Given the description of an element on the screen output the (x, y) to click on. 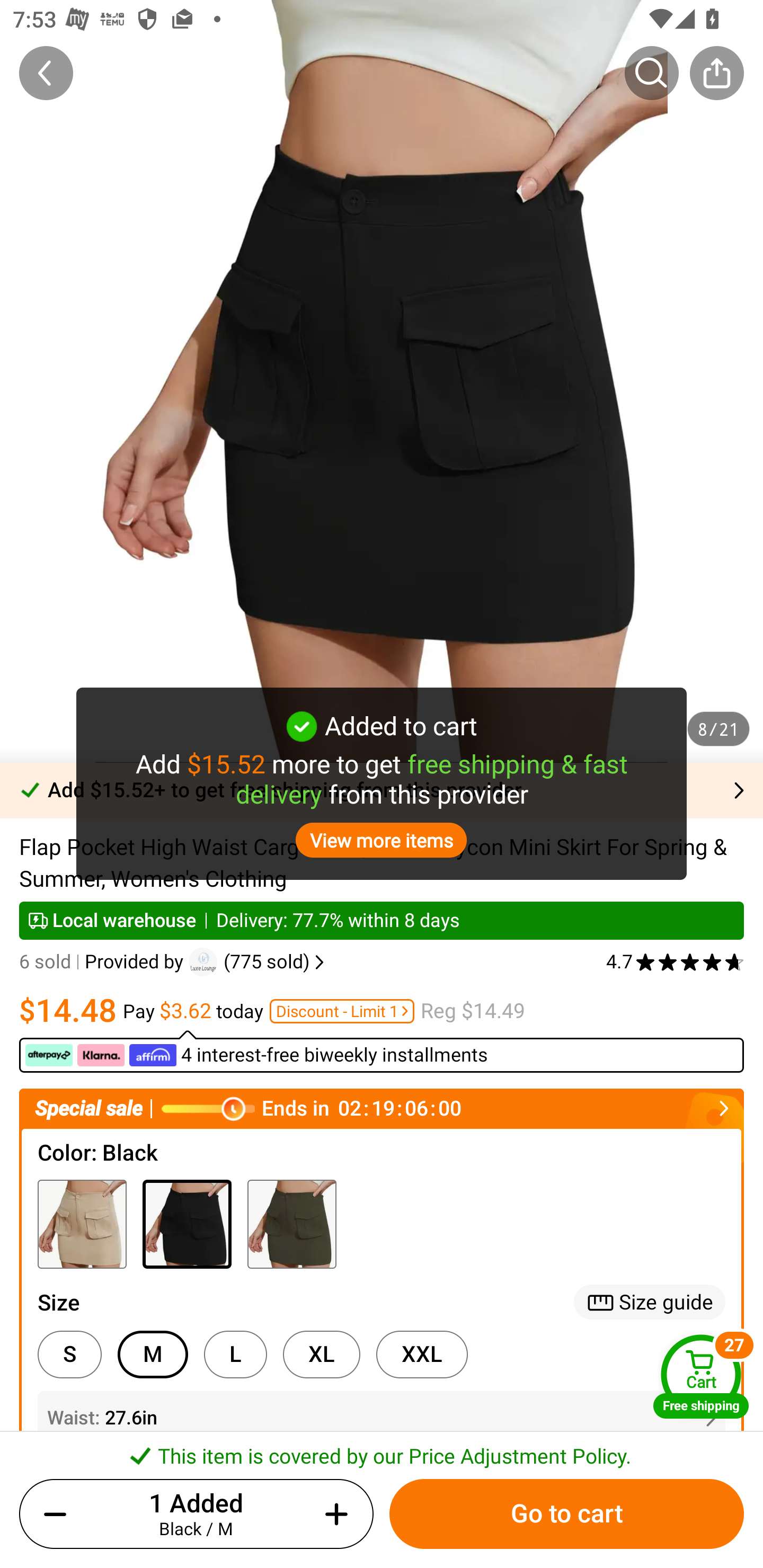
Back (46, 72)
Share (716, 72)
Local warehouse Delivery: 77.7% within 8 days (381, 920)
6 sold Provided by  (103, 961)
4.7 (674, 961)
￼ ￼ ￼ 4 interest-free biweekly installments (381, 1051)
Special sale Ends in￼￼ (381, 1108)
Khaki (81, 1223)
Black (186, 1223)
Army Green (291, 1223)
 Size guide (649, 1302)
S (69, 1354)
M (152, 1354)
L (235, 1354)
XL (321, 1354)
XXL (421, 1354)
Cart Free shipping Cart (701, 1375)
Waist: 27.6in￼ (381, 1417)
Decrease Quantity Button (59, 1513)
Add Quantity button (332, 1513)
Go to cart (566, 1513)
